Given the description of an element on the screen output the (x, y) to click on. 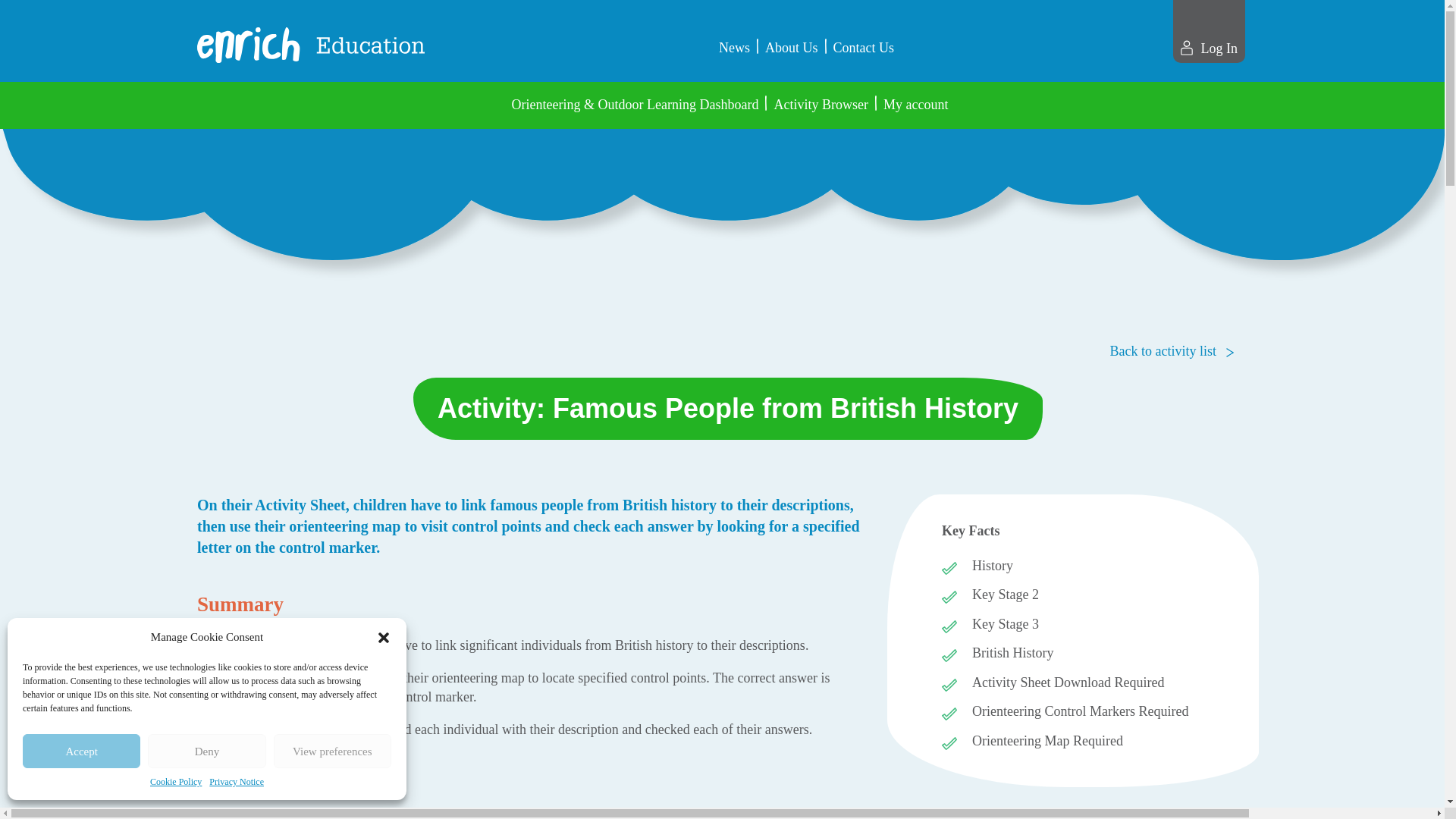
View preferences (332, 750)
Log In (1208, 47)
Accept (81, 750)
Privacy Notice (236, 781)
Contact Us (862, 47)
About Us (791, 47)
News (734, 47)
Back to activity list (1169, 351)
Activity Browser (820, 104)
Cookie Policy (175, 781)
Deny (206, 750)
My account (915, 104)
